Given the description of an element on the screen output the (x, y) to click on. 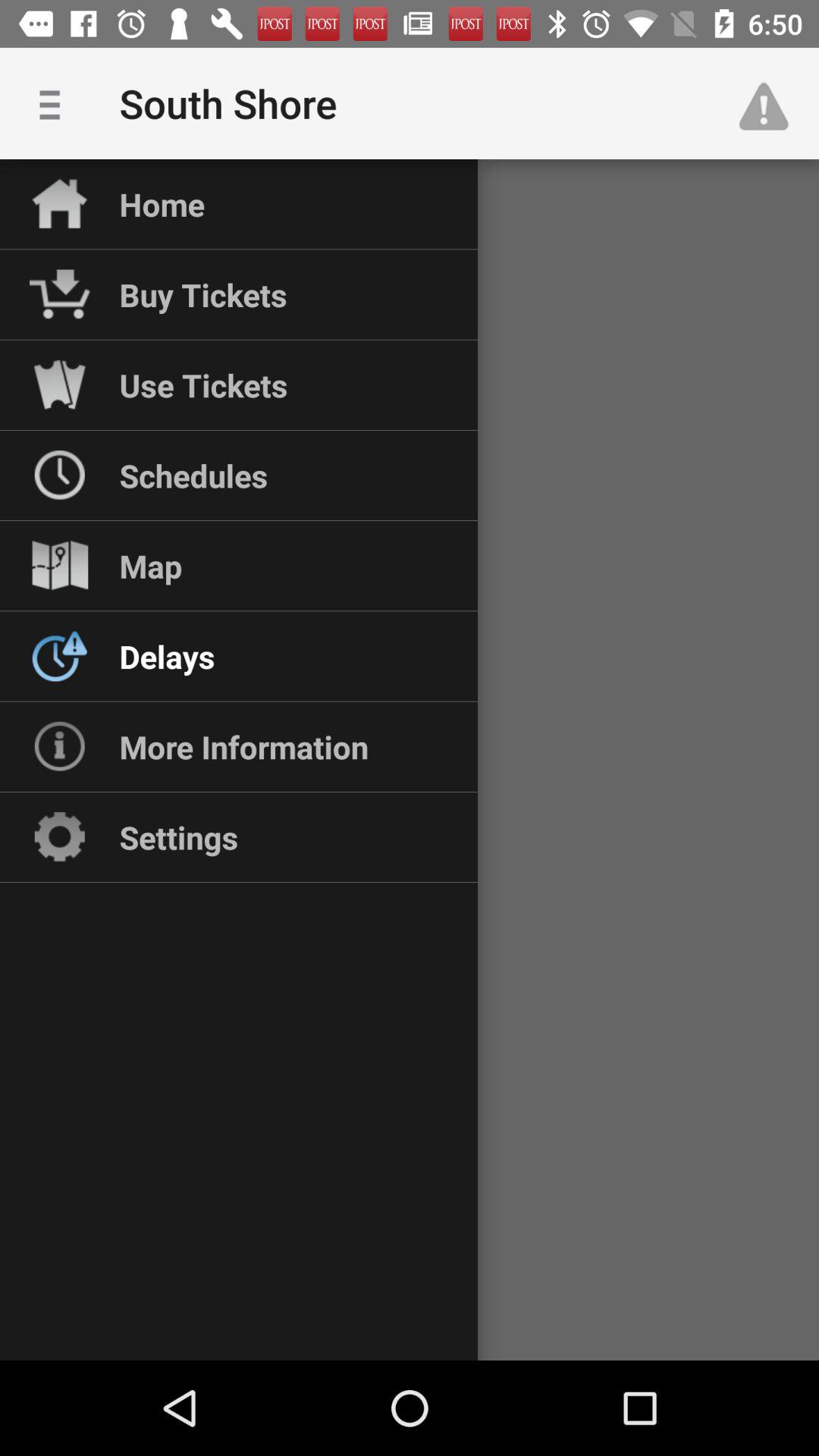
swipe to the home (161, 204)
